Given the description of an element on the screen output the (x, y) to click on. 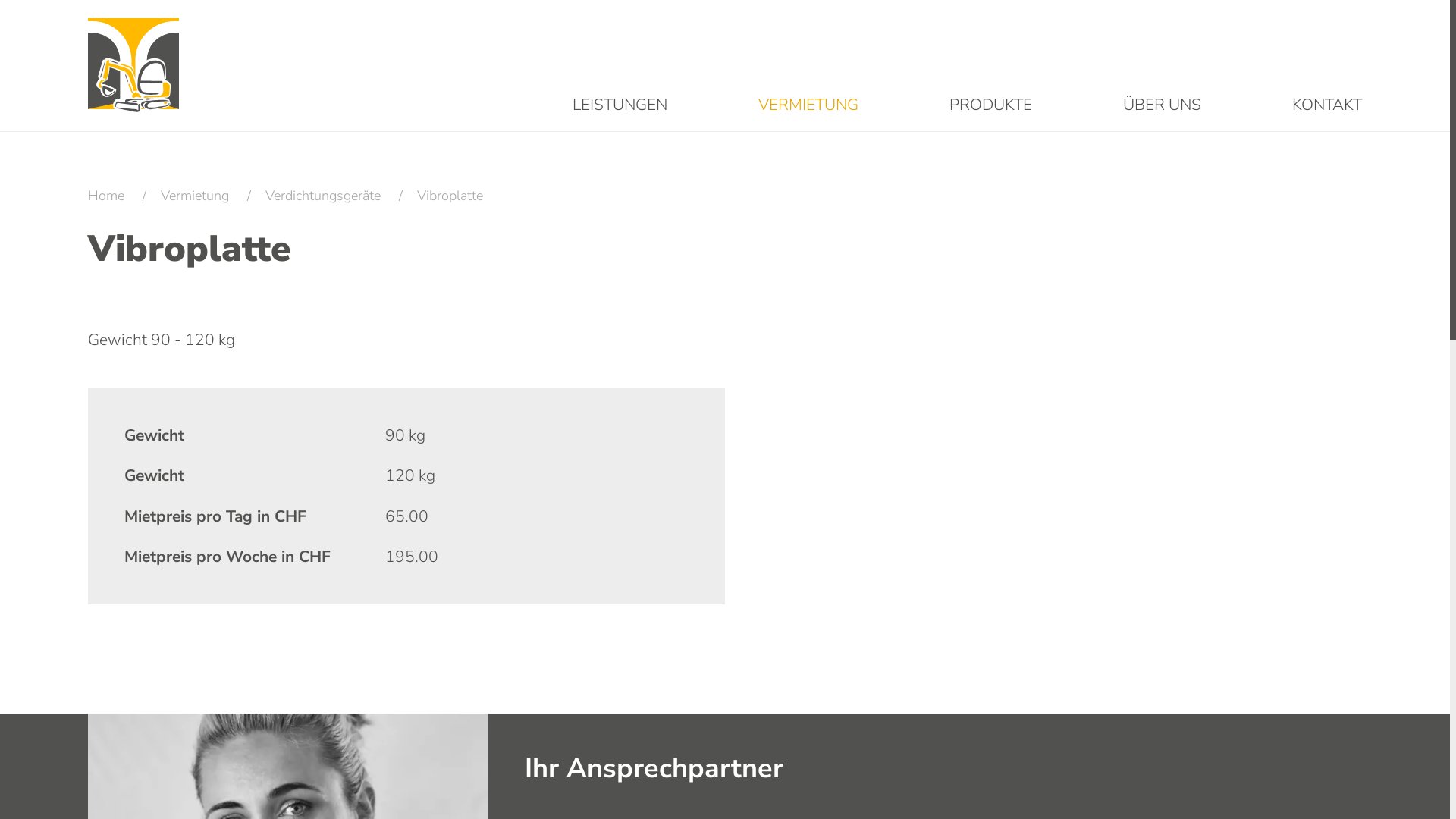
LEISTUNGEN Element type: text (619, 104)
Vermietung Element type: text (194, 195)
Vibroplatte Element type: text (450, 195)
KONTAKT Element type: text (1327, 104)
VERMIETUNG Element type: text (808, 104)
Home Element type: text (105, 195)
PRODUKTE Element type: text (990, 104)
